Given the description of an element on the screen output the (x, y) to click on. 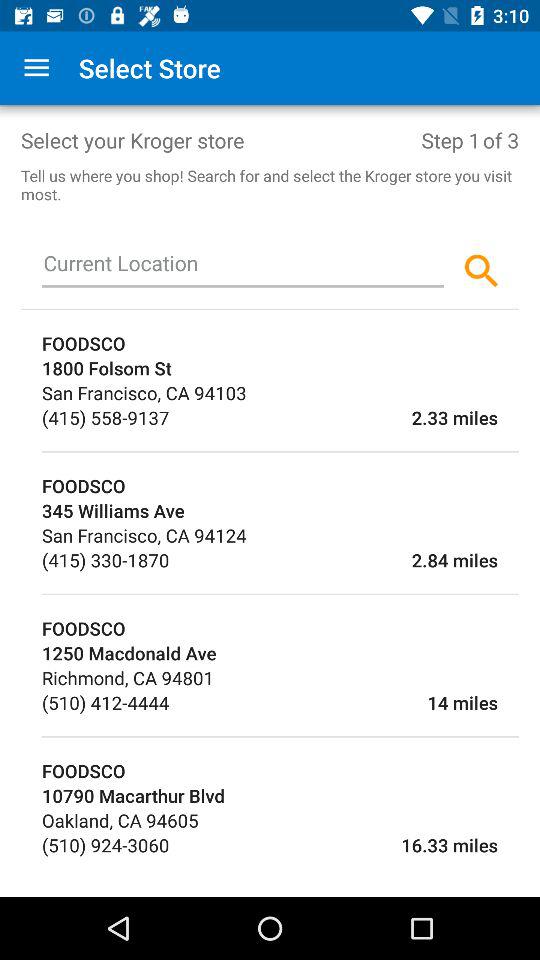
tap the item below san francisco ca icon (105, 559)
